Given the description of an element on the screen output the (x, y) to click on. 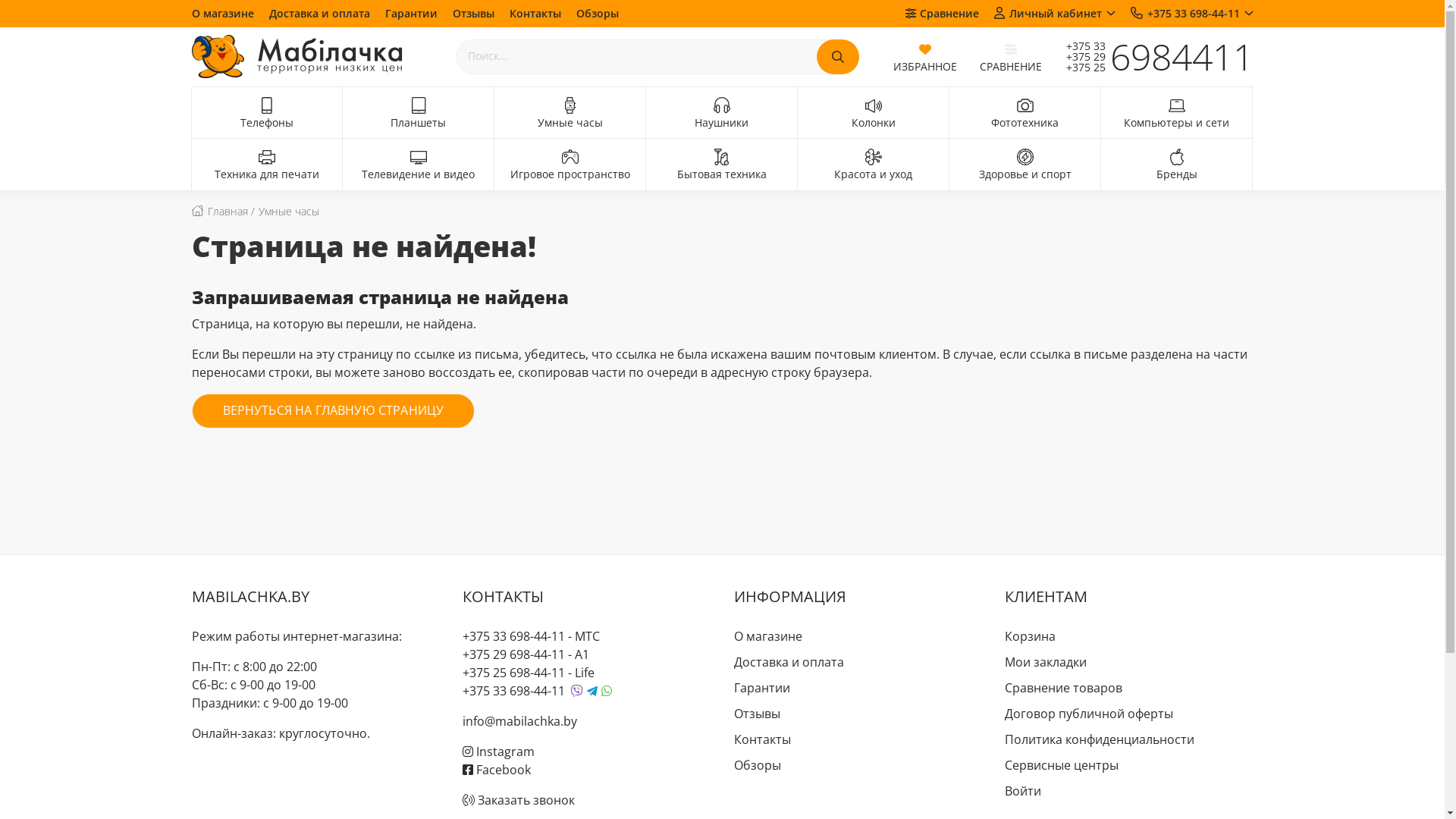
+375 29 Element type: text (1078, 56)
APPLY Element type: text (836, 56)
Viber Element type: hover (577, 690)
Facebook Element type: text (496, 769)
+375 33 698-44-11 Element type: text (1190, 12)
+375 33 Element type: text (1078, 45)
Instagram Element type: text (498, 751)
Telegram Element type: hover (592, 691)
+375 25 698-44-11 Element type: text (513, 672)
Whatsapp Element type: hover (606, 690)
+375 29 698-44-11 Element type: text (513, 654)
+375 33 698-44-11 Element type: text (513, 635)
+375 25 Element type: text (1078, 67)
